Given the description of an element on the screen output the (x, y) to click on. 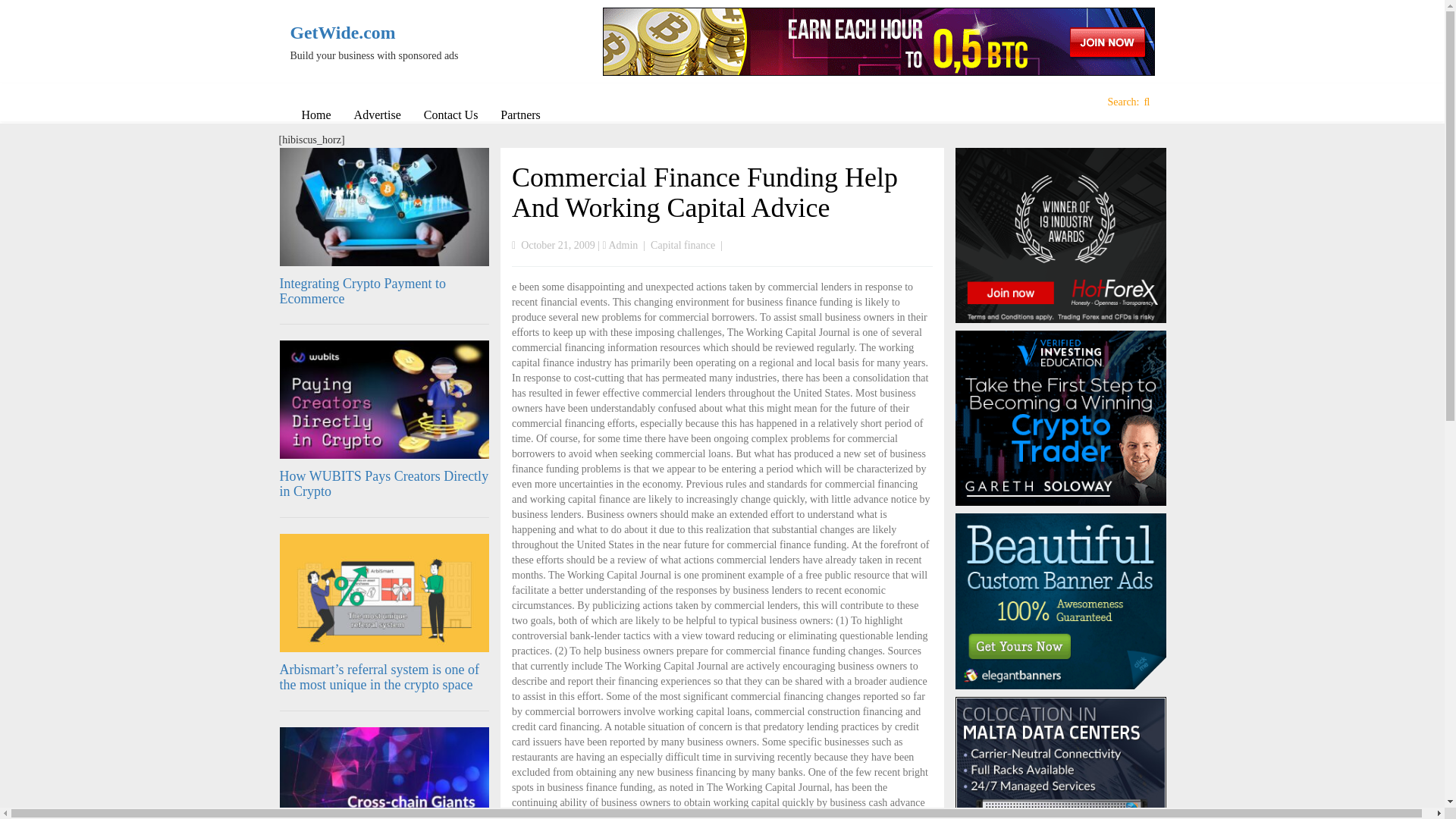
Advertise (377, 115)
How WUBITS Pays Creators Directly in Crypto (383, 483)
Commercial Finance Funding Help And Working Capital Advice (705, 192)
Home (315, 115)
Contact Us (450, 115)
GetWide.com (389, 32)
Posts by Admin (622, 244)
Admin (622, 244)
Integrating Crypto Payment to Ecommerce (362, 291)
Partners (520, 115)
